Given the description of an element on the screen output the (x, y) to click on. 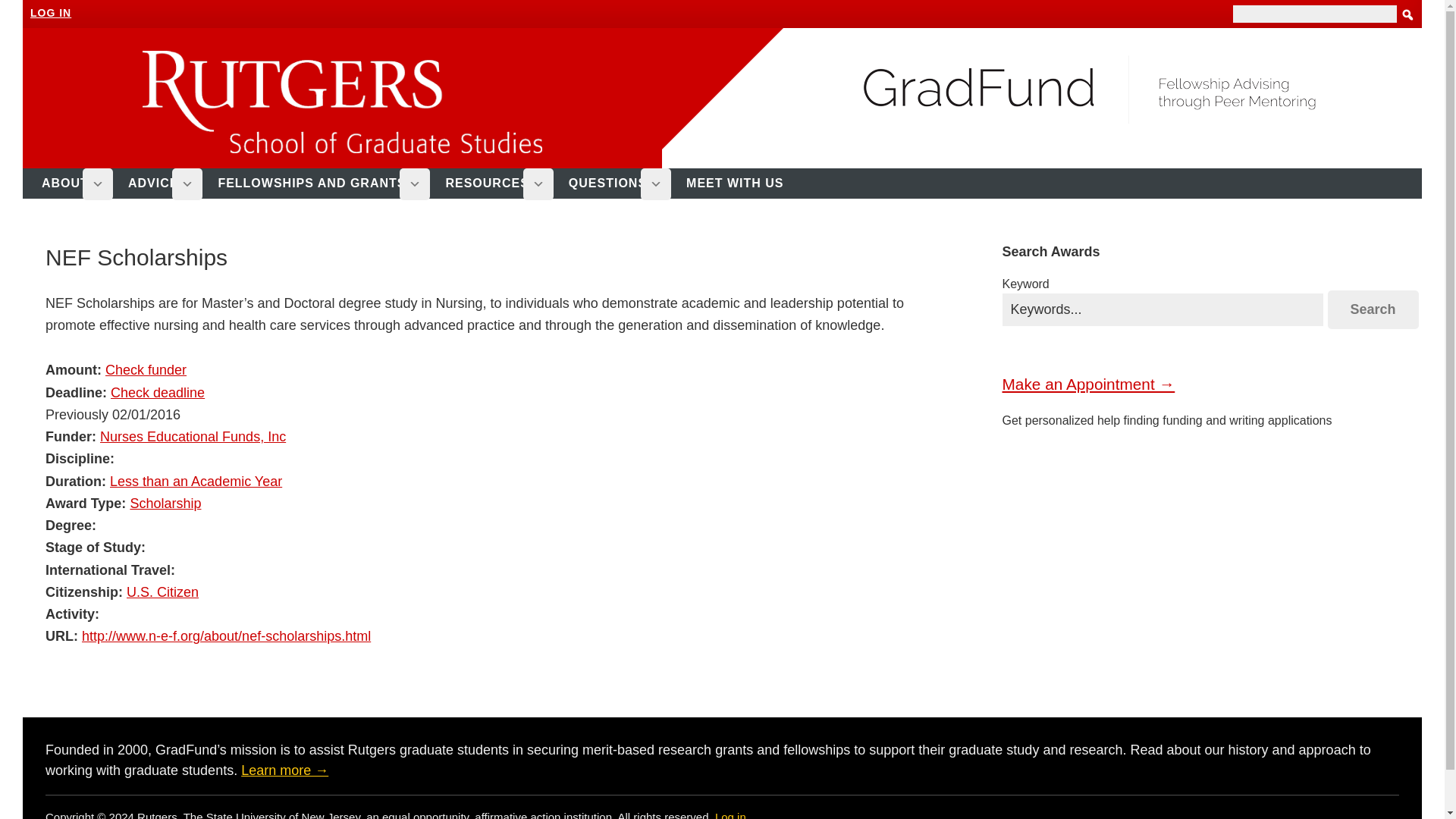
Search (1372, 309)
Scholarship (164, 503)
Submenu (413, 183)
Submenu (655, 183)
QUESTIONS (614, 183)
Submenu (186, 183)
Less than an Academic Year (196, 481)
U.S. Citizen (162, 591)
Check funder (145, 369)
LOG IN (50, 12)
ADVICE (159, 183)
Search (1372, 309)
FELLOWSHIPS AND GRANTS (317, 183)
ABOUT (71, 183)
